Given the description of an element on the screen output the (x, y) to click on. 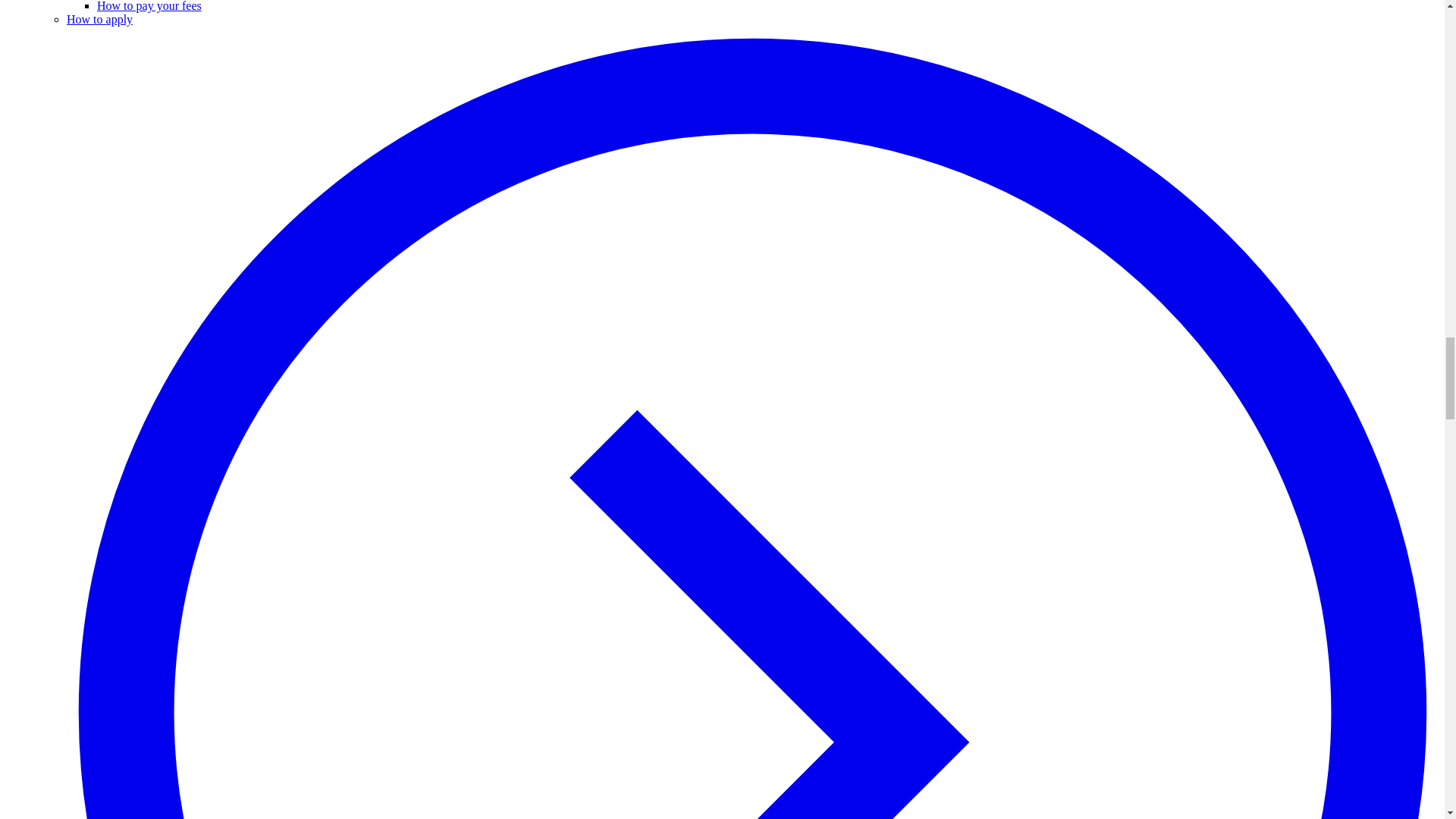
How to pay your fees (149, 6)
